Given the description of an element on the screen output the (x, y) to click on. 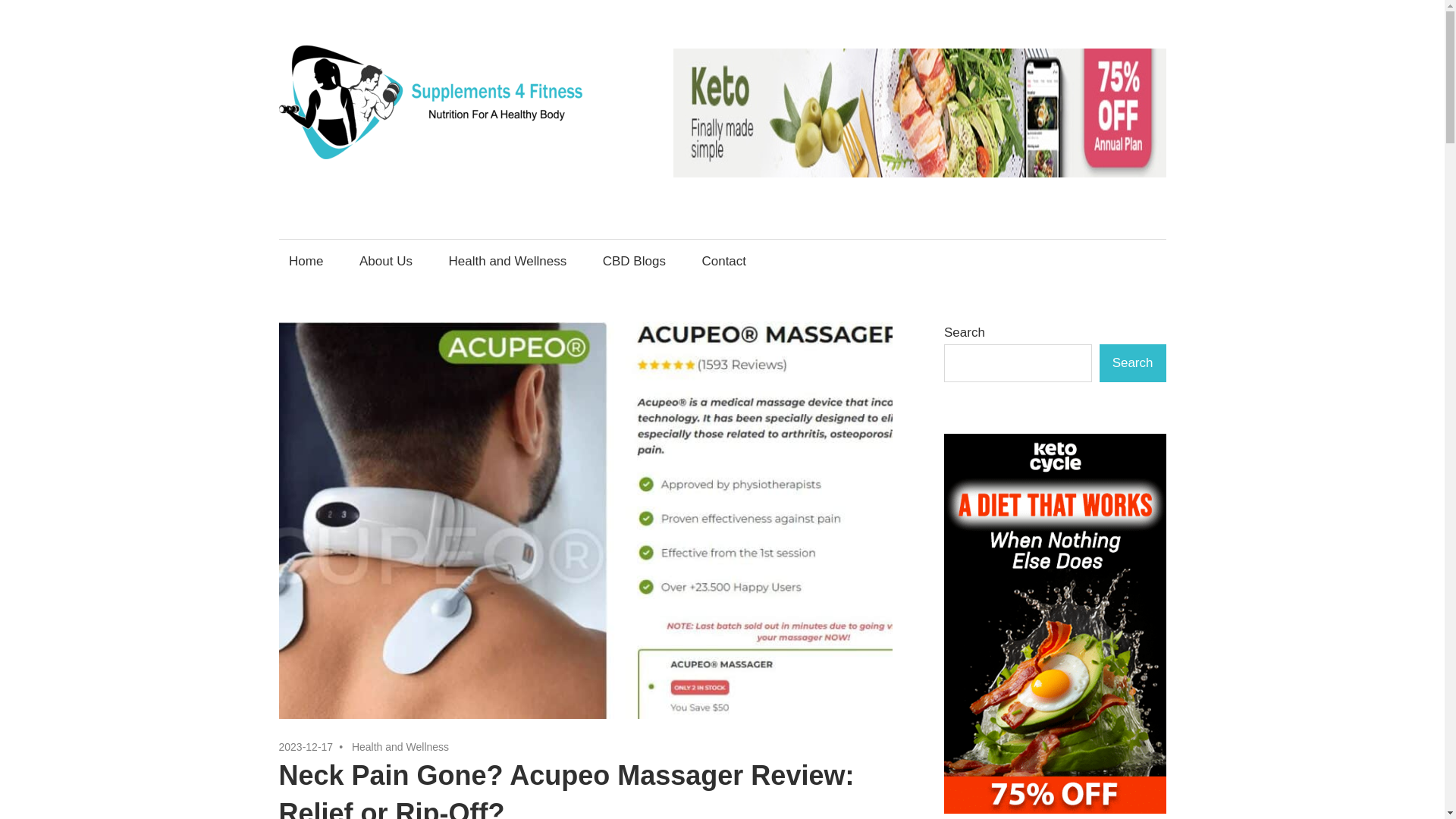
4:28 pm (306, 746)
Health and Wellness (507, 260)
CBD Blogs (633, 260)
About Us (385, 260)
2023-12-17 (306, 746)
Contact (728, 260)
Home (306, 260)
Health and Wellness (400, 746)
